Given the description of an element on the screen output the (x, y) to click on. 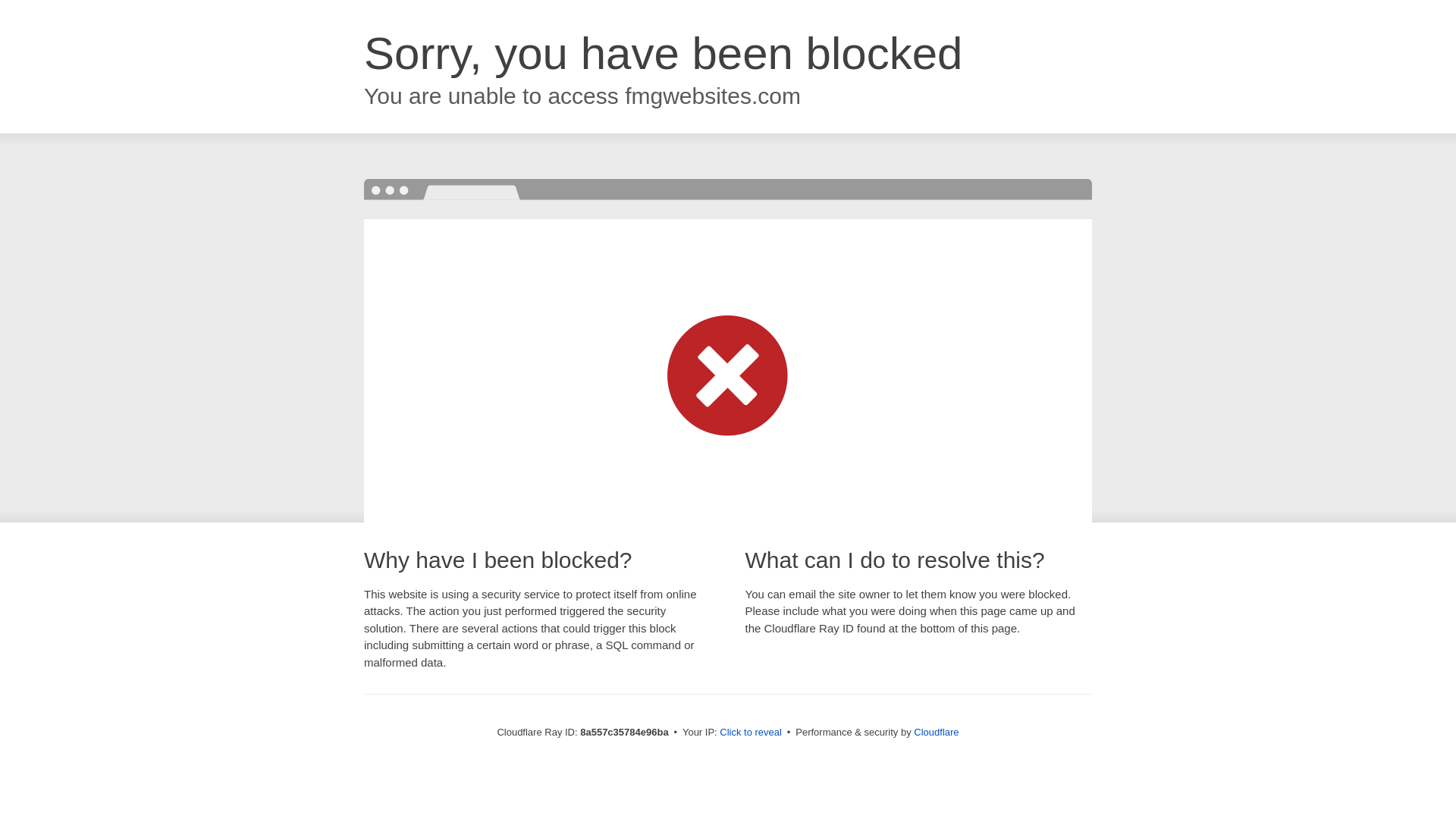
Cloudflare (936, 731)
Click to reveal (750, 732)
